Given the description of an element on the screen output the (x, y) to click on. 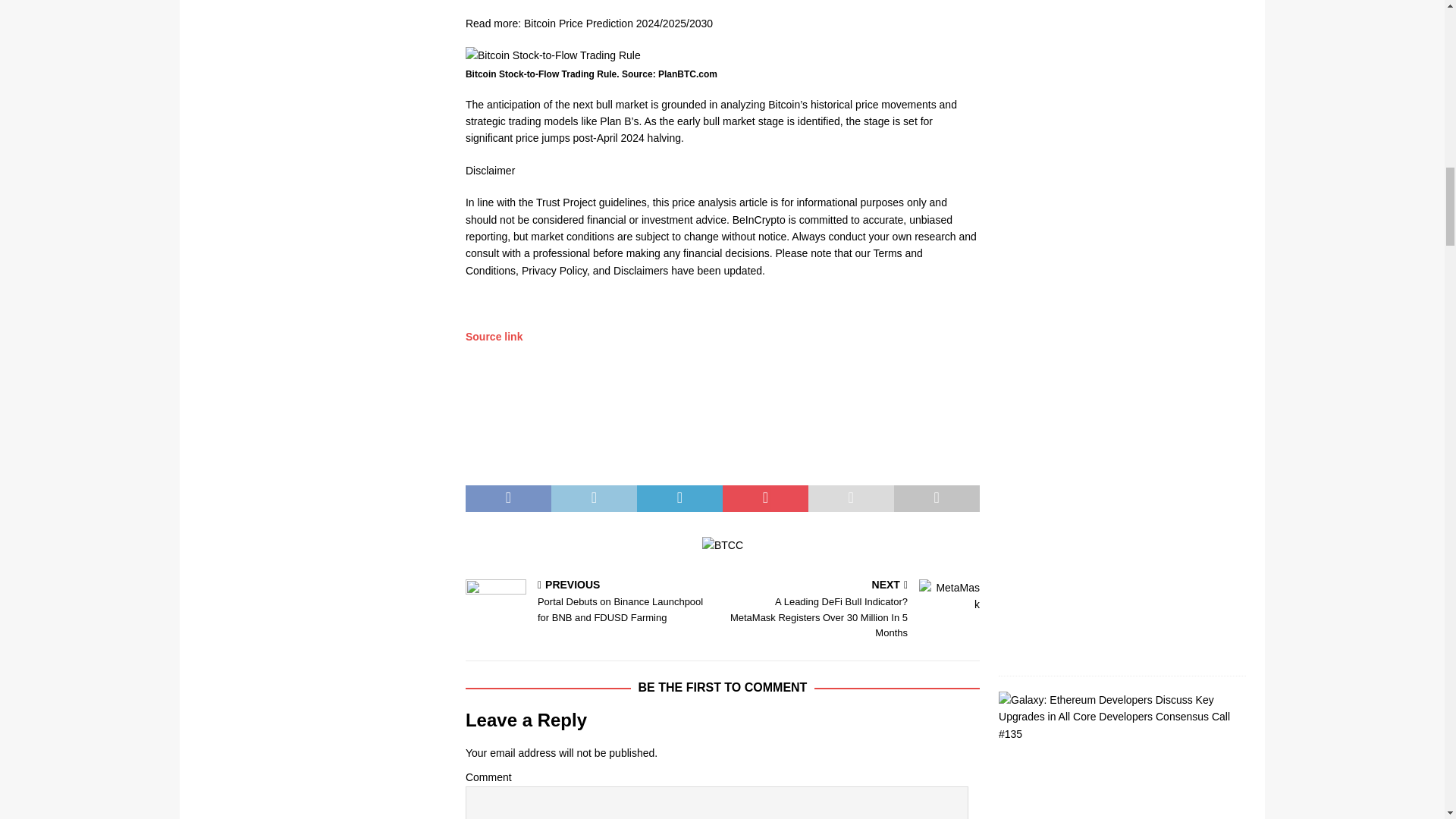
Source link (493, 336)
